Given the description of an element on the screen output the (x, y) to click on. 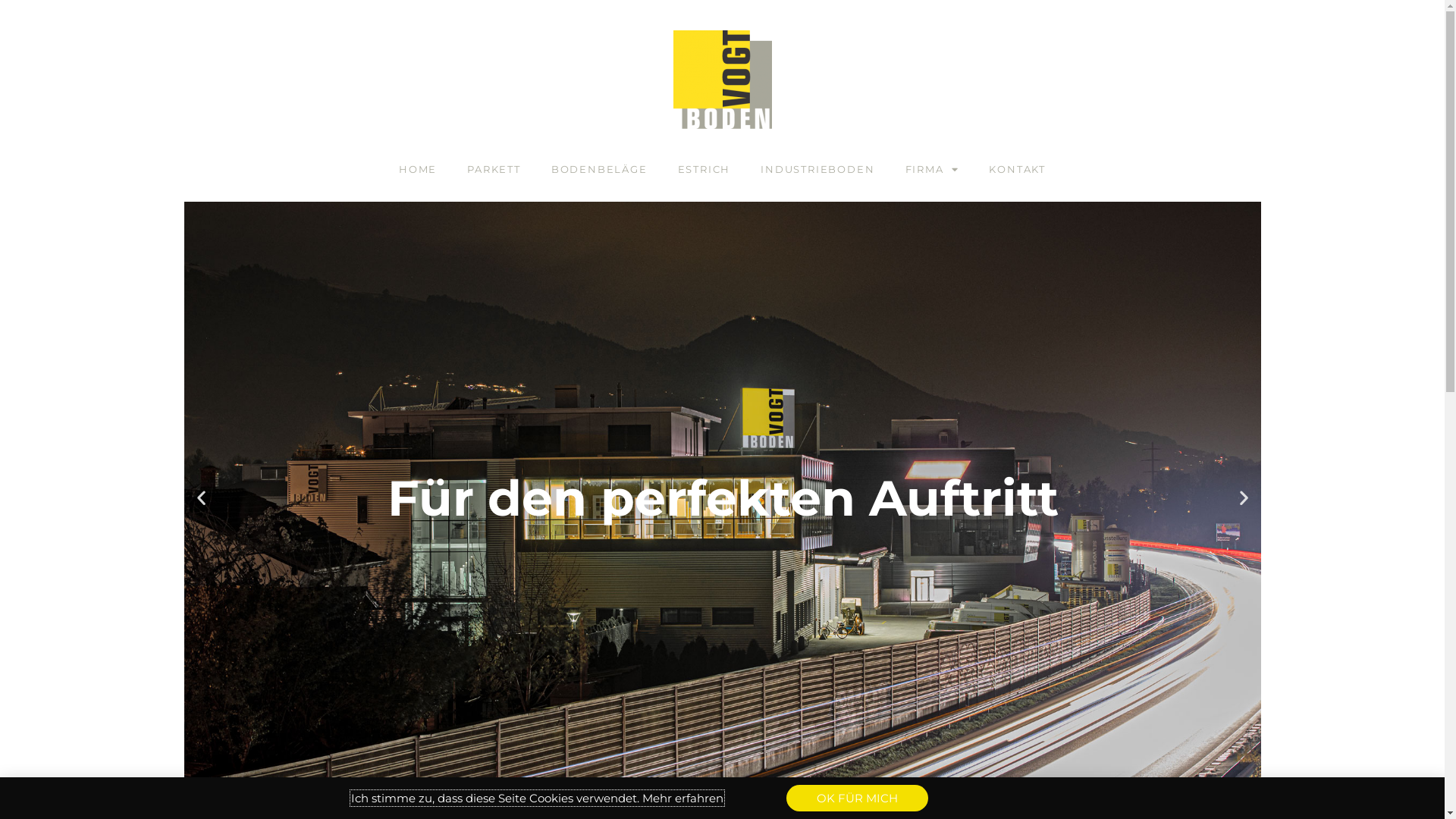
INDUSTRIEBODEN Element type: text (817, 168)
HOME Element type: text (417, 168)
KONTAKT Element type: text (1016, 168)
ESTRICH Element type: text (704, 168)
cropped-Favicon_Balz_Vogt.png Element type: hover (722, 79)
PARKETT Element type: text (493, 168)
FIRMA Element type: text (932, 168)
